Given the description of an element on the screen output the (x, y) to click on. 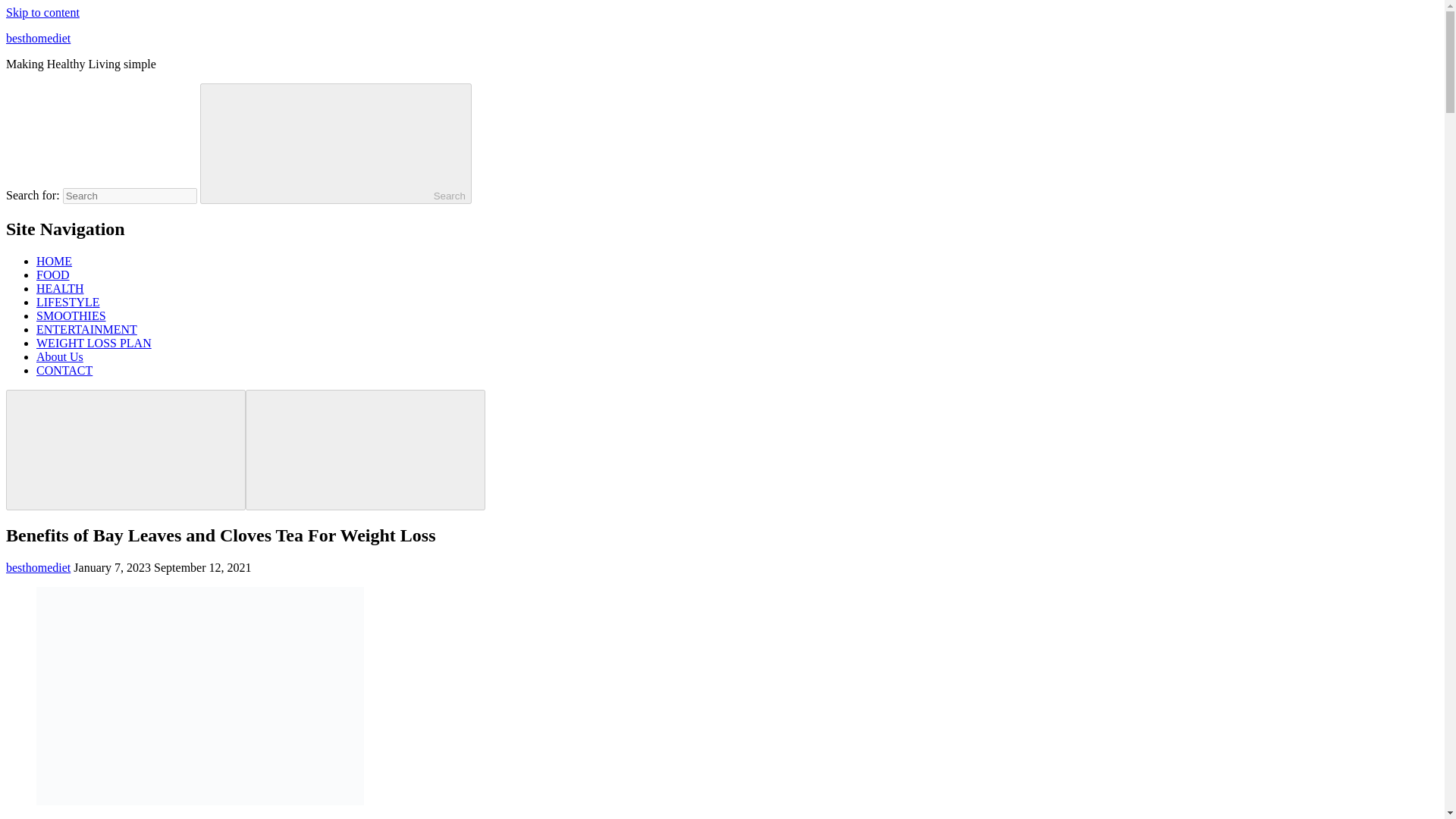
LIFESTYLE (68, 301)
HOME (53, 260)
besthomediet (37, 38)
SMOOTHIES (71, 315)
HEALTH (60, 287)
Skip to content (42, 11)
FOOD (52, 274)
About Us (59, 356)
ENTERTAINMENT (86, 328)
Search (335, 143)
Search for: (129, 195)
WEIGHT LOSS PLAN (93, 342)
besthomediet (37, 567)
CONTACT (64, 369)
